Given the description of an element on the screen output the (x, y) to click on. 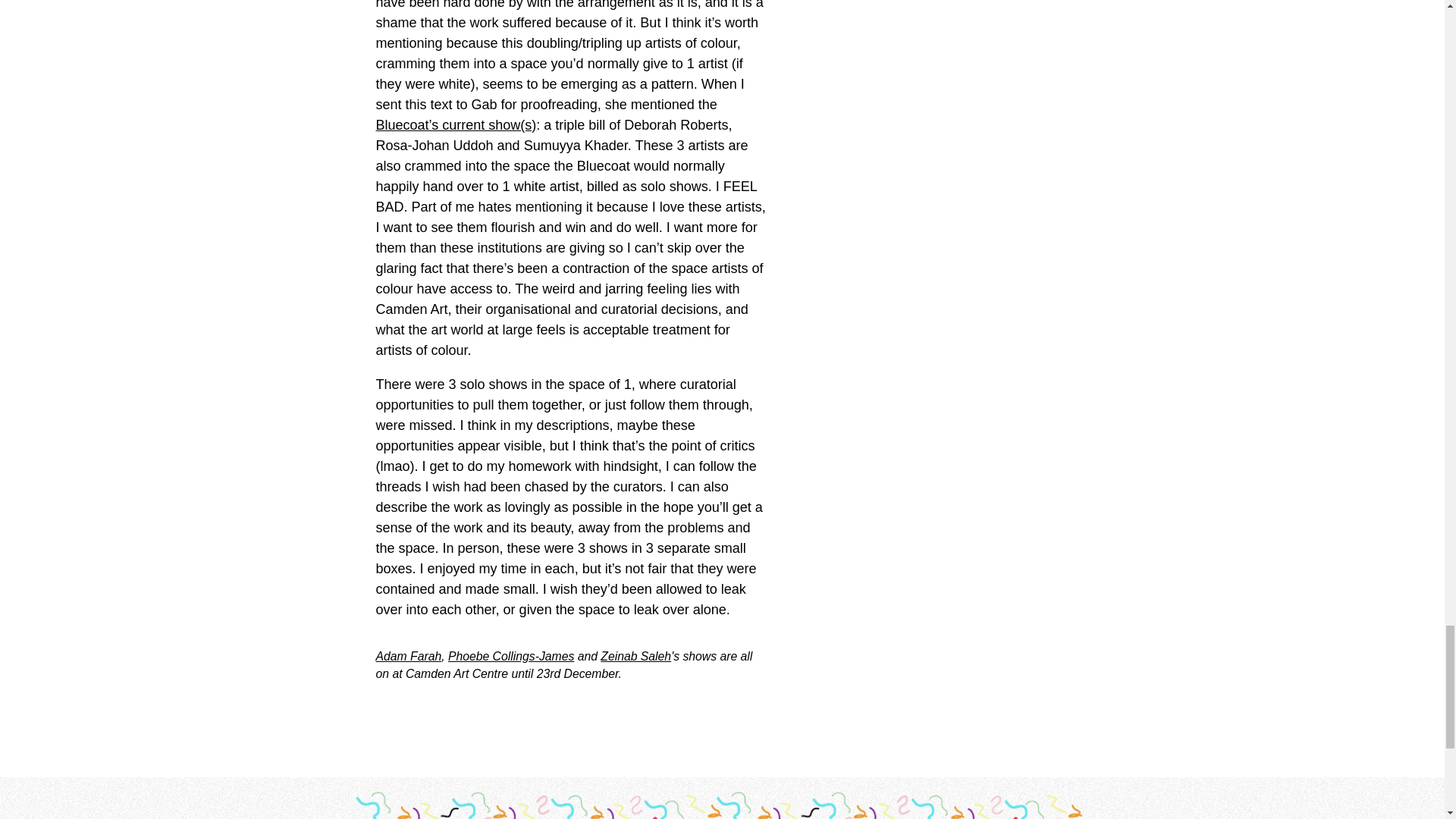
Adam Farah (408, 655)
Phoebe Collings-James (510, 655)
Zeinab Saleh (635, 655)
